Given the description of an element on the screen output the (x, y) to click on. 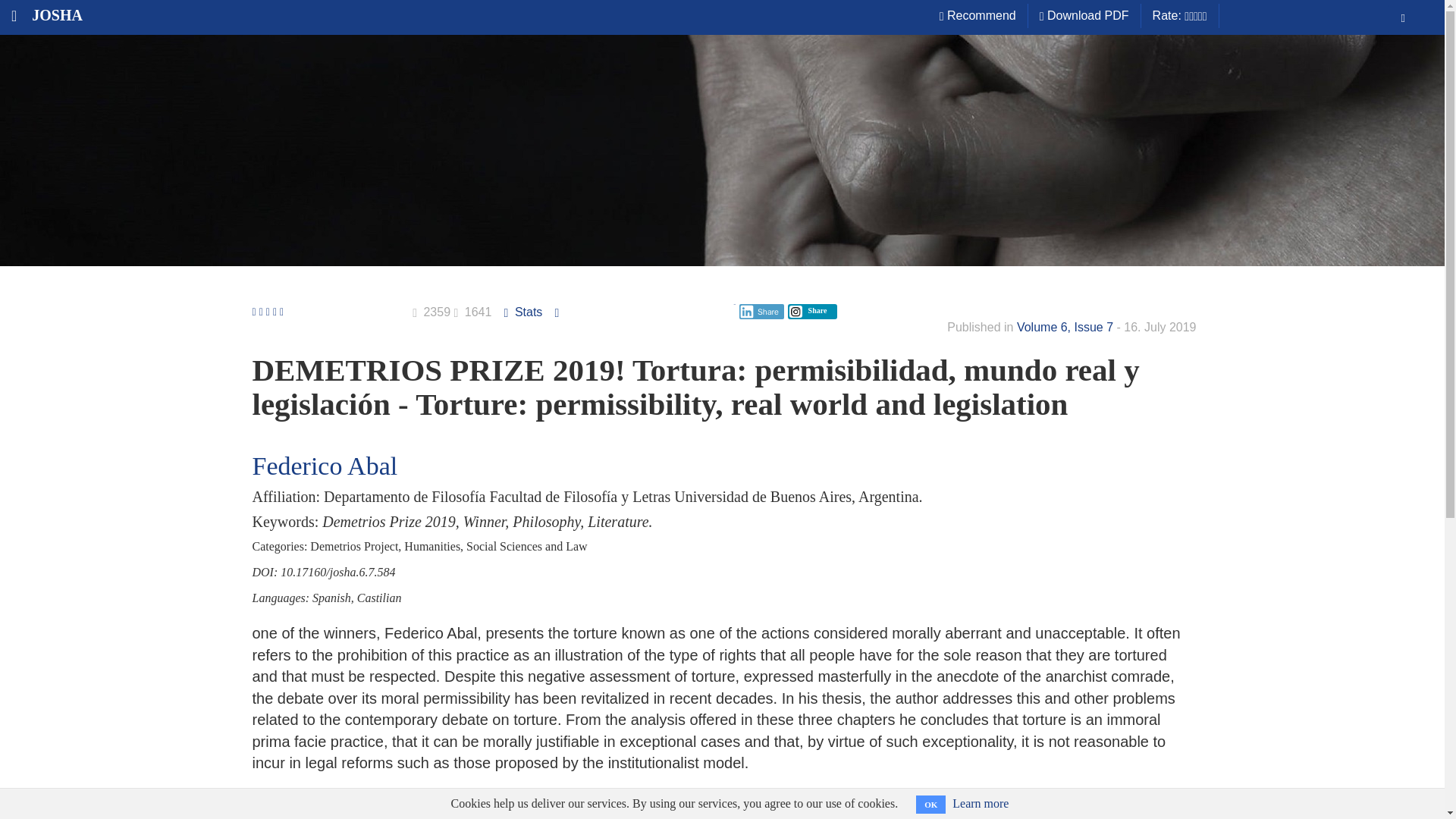
Watch Video (889, 808)
Download PDF (570, 808)
Watch Video (889, 815)
Volume 6, Issue 7 (1064, 327)
Stats (524, 311)
Learn more (980, 802)
Share (761, 311)
Download PDF (1083, 15)
Share (808, 310)
Federico Abal (324, 465)
Recommend (977, 15)
JOSHA (41, 15)
Download PDF (571, 815)
OK (929, 804)
